Given the description of an element on the screen output the (x, y) to click on. 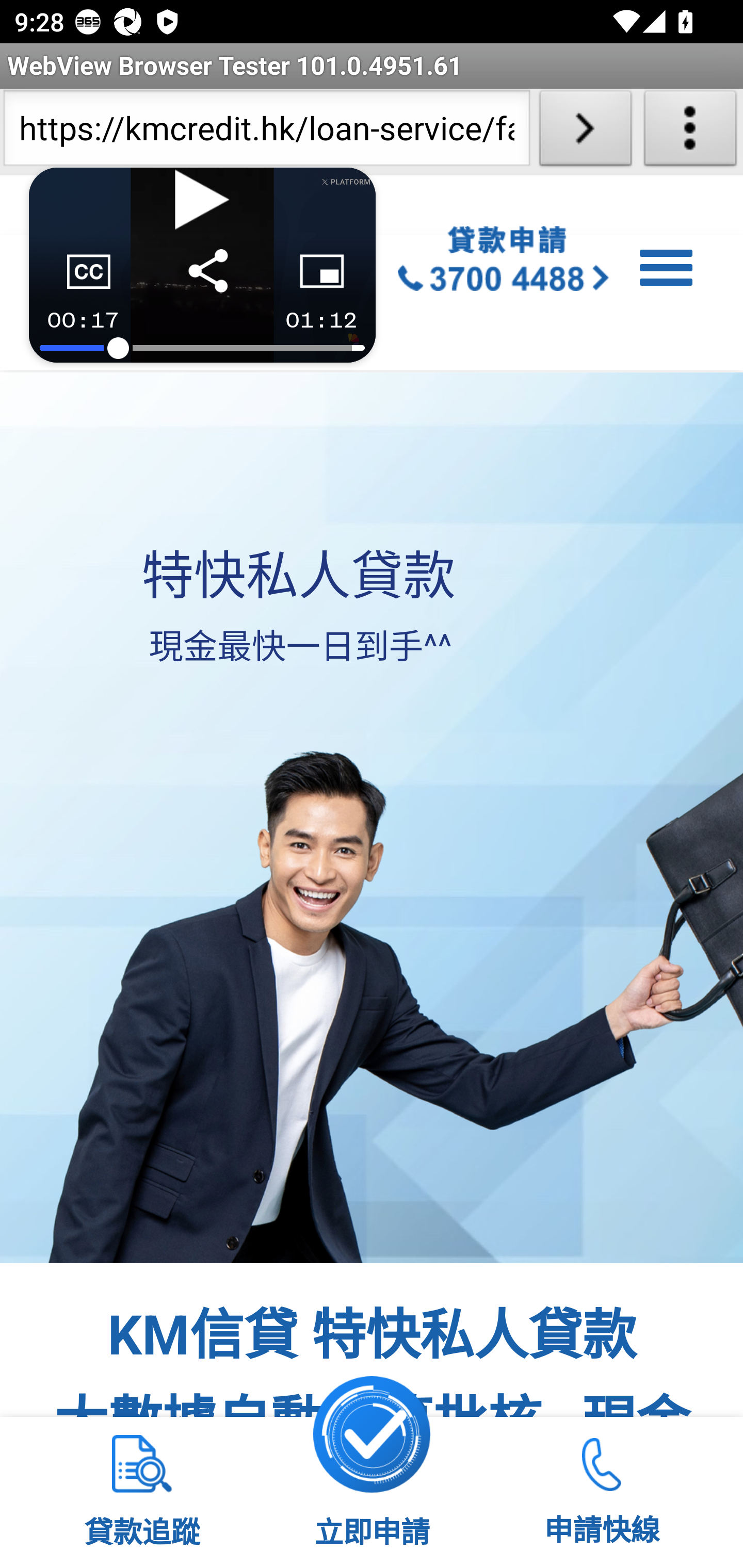
Load URL (585, 132)
About WebView (690, 132)
Group-2430 (503, 262)
